Given the description of an element on the screen output the (x, y) to click on. 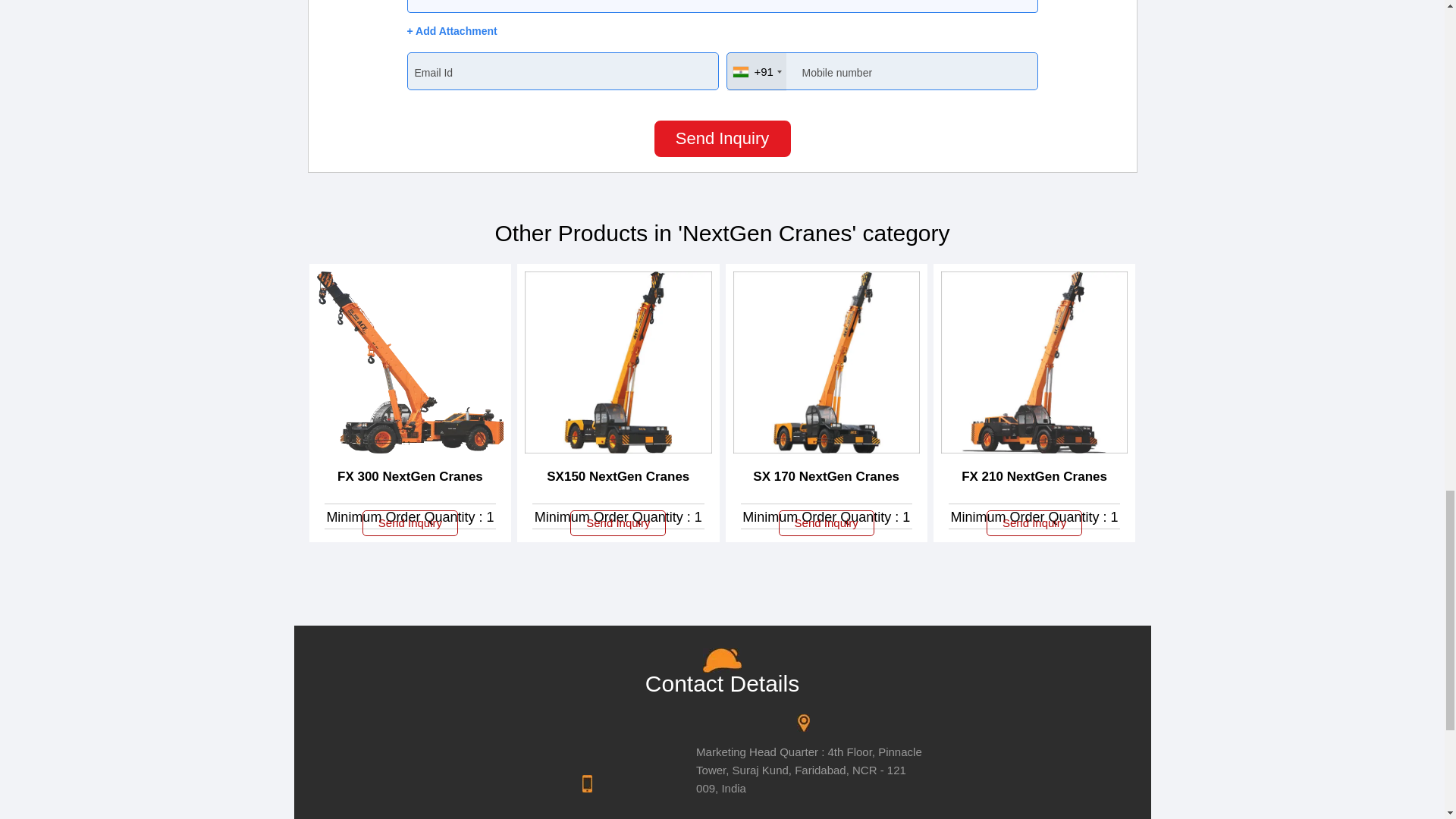
Send Inquiry (721, 138)
